Given the description of an element on the screen output the (x, y) to click on. 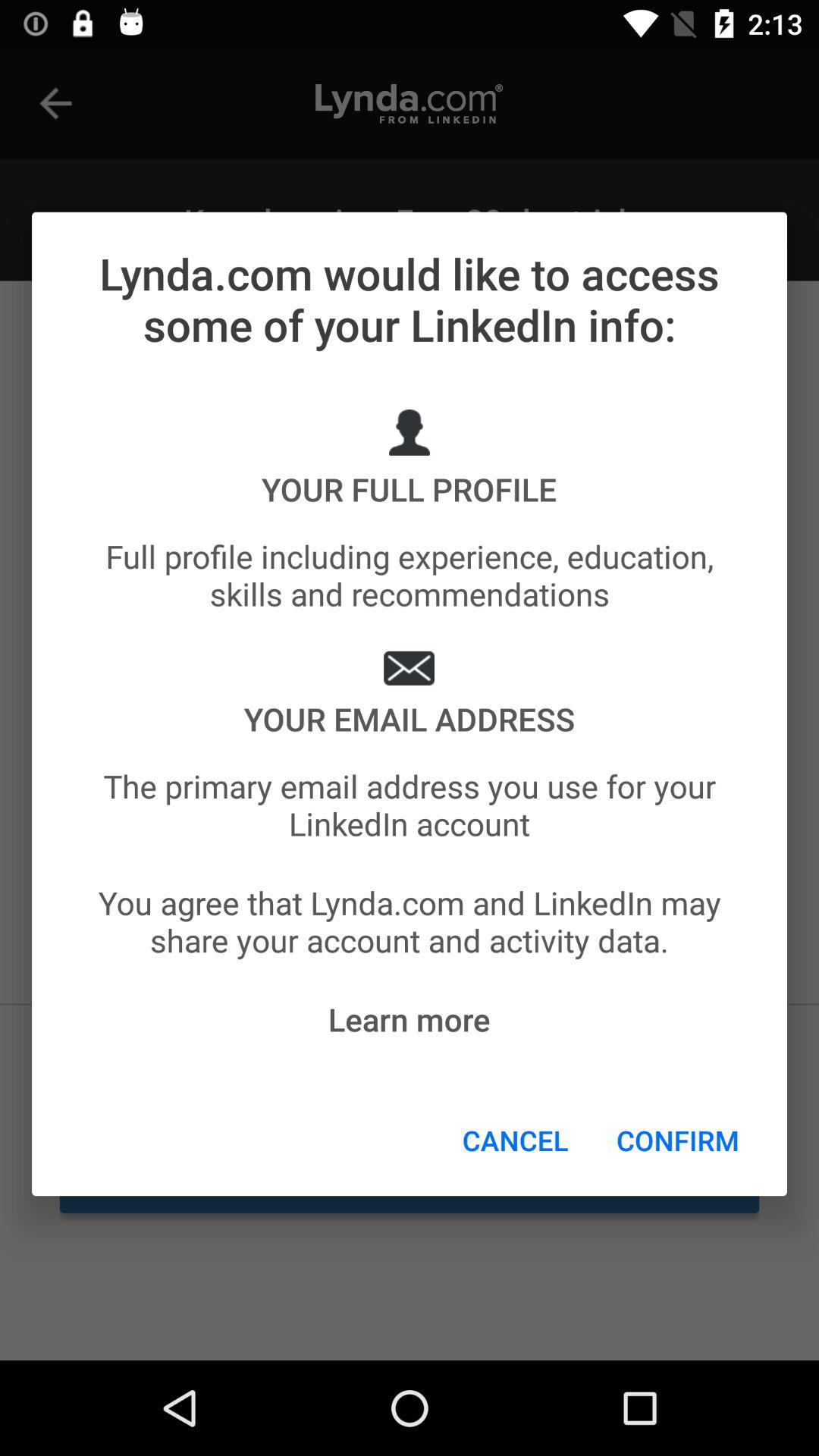
scroll to learn more item (409, 1018)
